Given the description of an element on the screen output the (x, y) to click on. 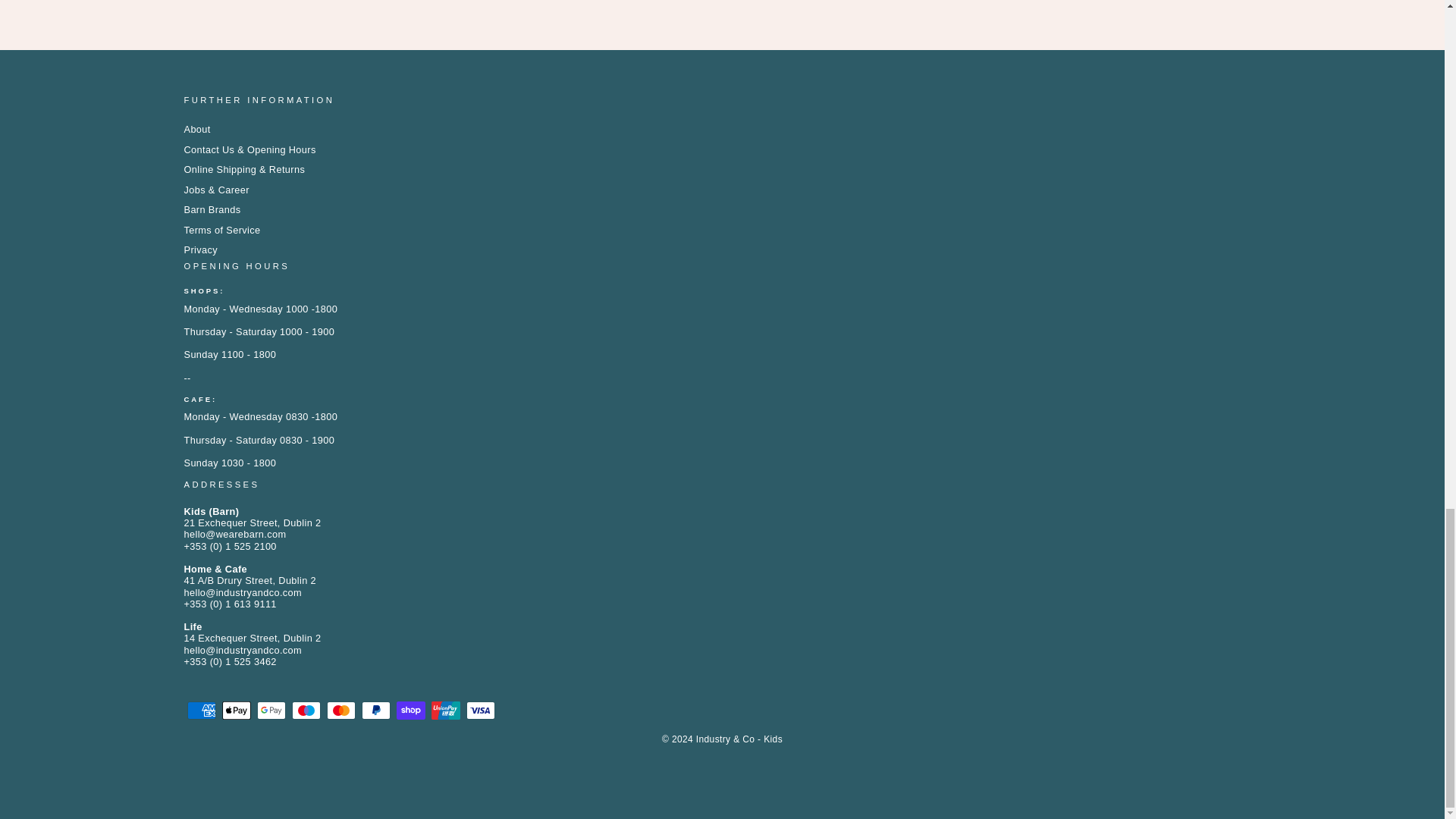
Apple Pay (235, 710)
Shop Pay (410, 710)
Google Pay (270, 710)
PayPal (375, 710)
American Express (200, 710)
Maestro (305, 710)
Union Pay (445, 710)
Mastercard (340, 710)
Visa (480, 710)
